Given the description of an element on the screen output the (x, y) to click on. 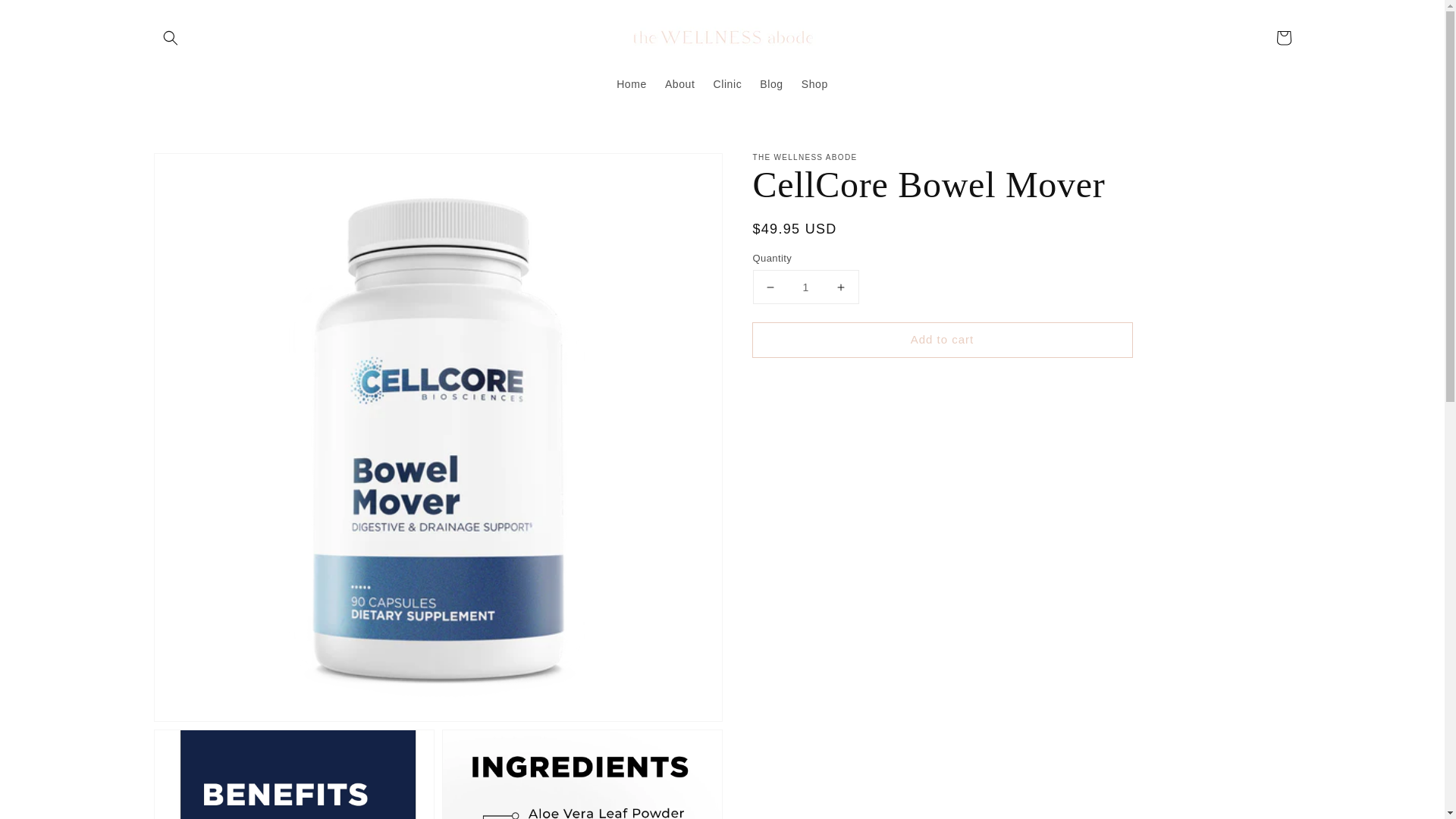
Open media 3 in gallery view (582, 774)
1 (805, 287)
Clinic (727, 83)
About (680, 83)
Cart (1283, 37)
Skip to content (45, 16)
Blog (771, 83)
Home (631, 83)
Decrease quantity for CellCore Bowel Mover (770, 287)
Skip to product information (198, 169)
